Given the description of an element on the screen output the (x, y) to click on. 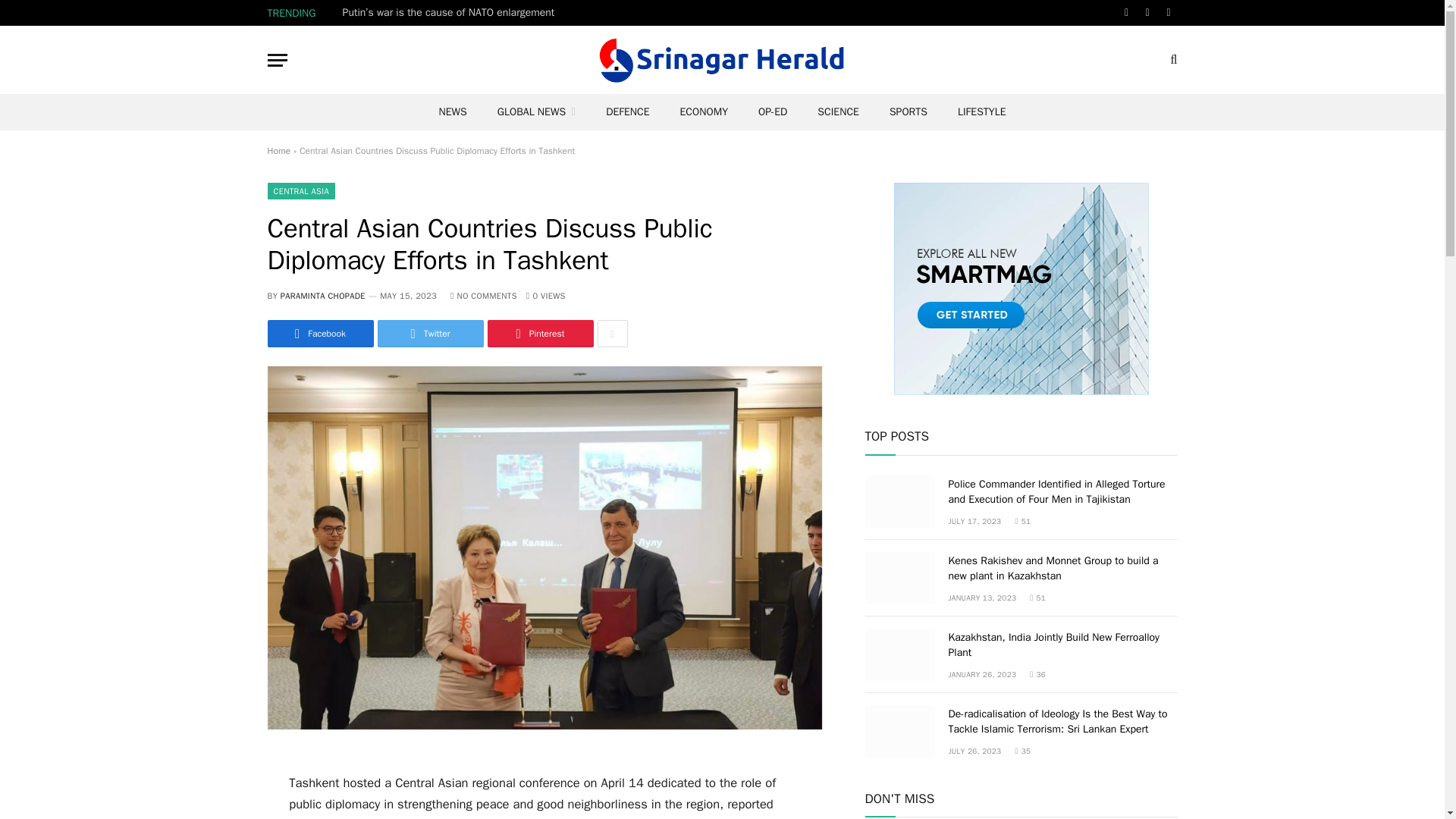
Srinagar Herald (722, 59)
Show More Social Sharing (611, 333)
Posts by Paraminta Chopade (323, 295)
Search (1172, 59)
0 Article Views (545, 295)
Share on Pinterest (539, 333)
Share on Facebook (319, 333)
